Given the description of an element on the screen output the (x, y) to click on. 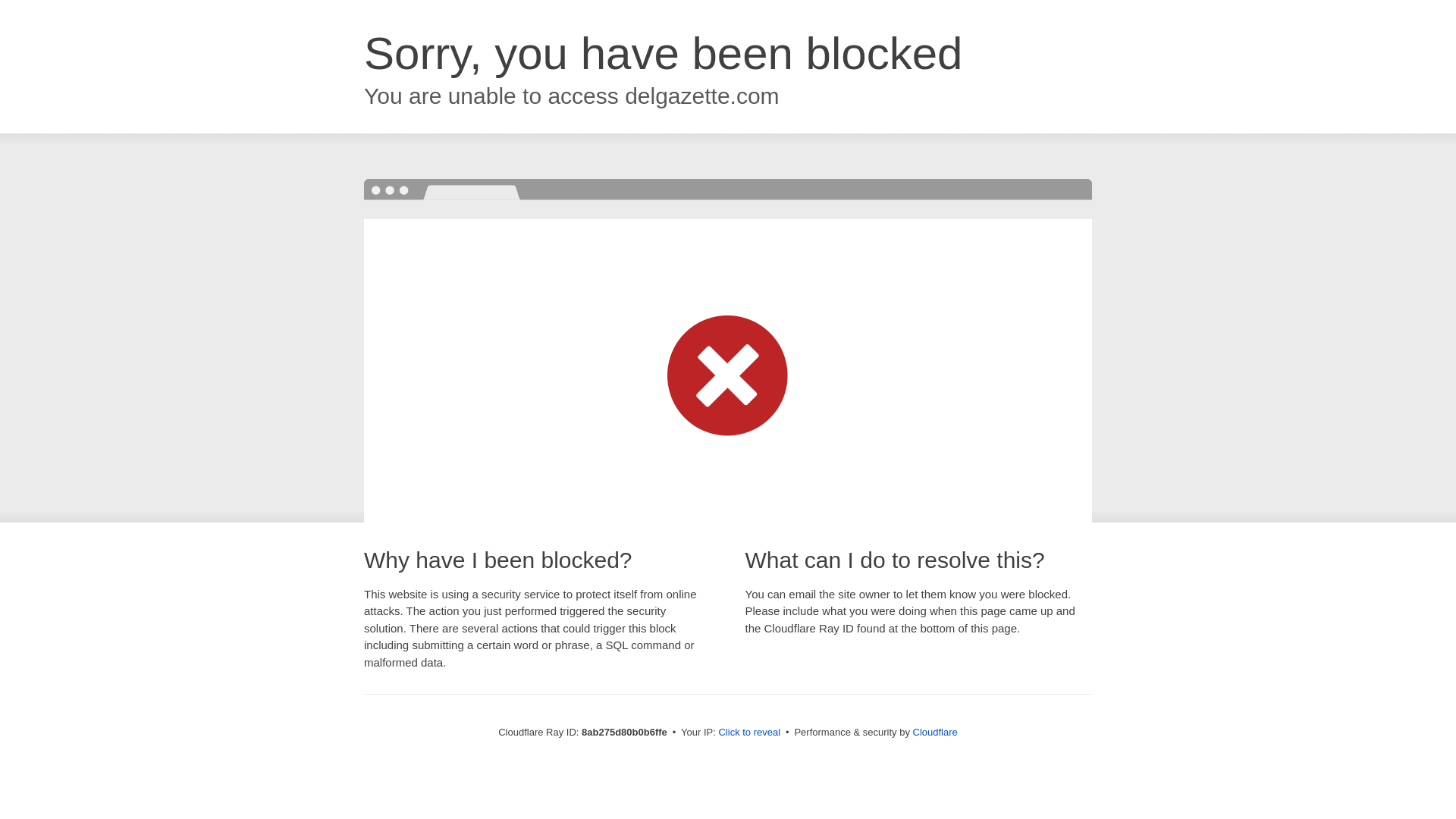
Cloudflare (935, 731)
Click to reveal (748, 732)
